Given the description of an element on the screen output the (x, y) to click on. 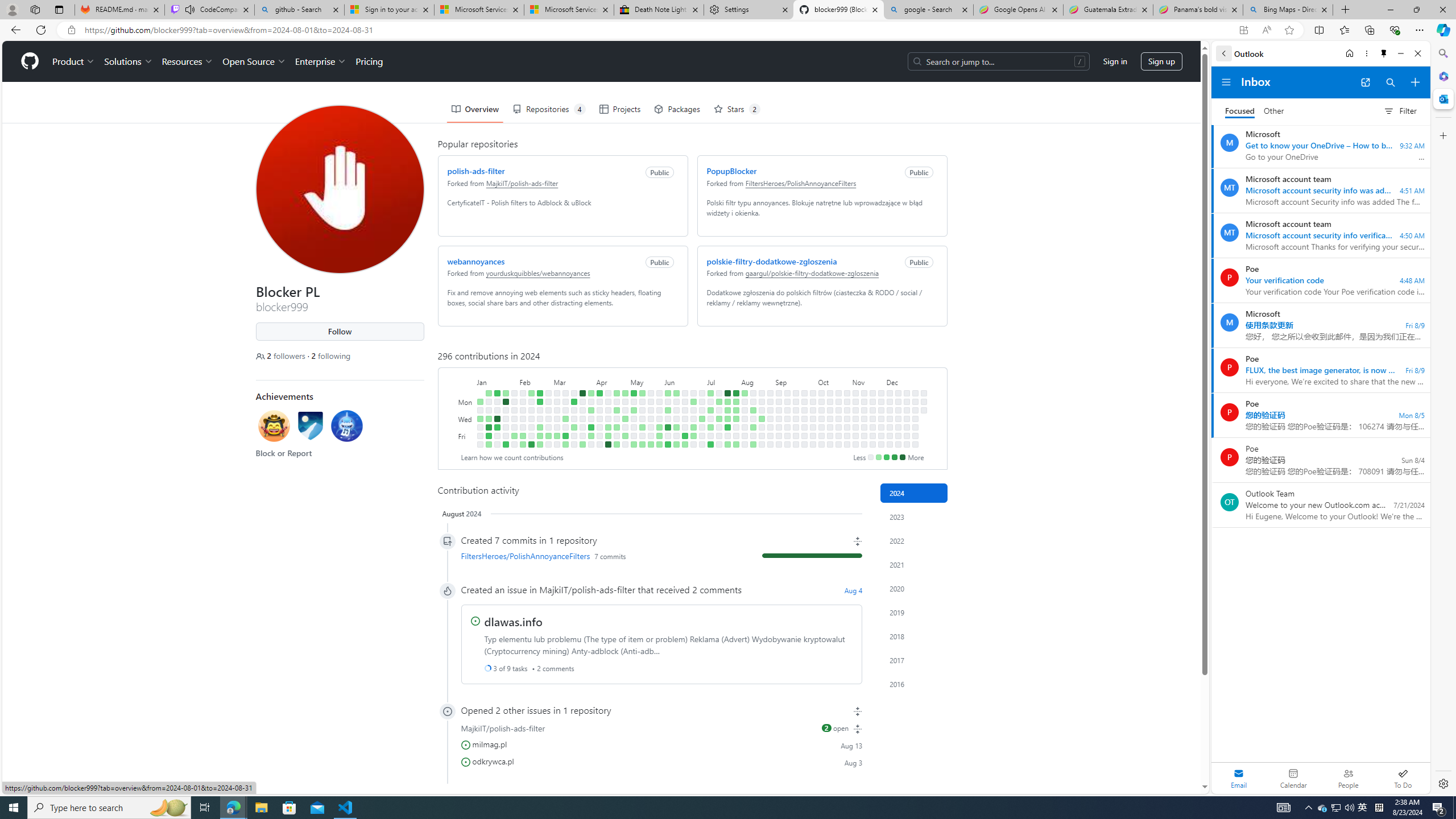
odkrywca.plThis contribution was made on Aug 3 (661, 760)
1 contribution on March 8th. (556, 435)
No contributions on September 5th. (777, 427)
No contributions on March 12th. (565, 410)
No contributions on August 28th. (770, 418)
No contributions on November 16th. (863, 444)
3 contributions on March 16th. (565, 444)
2 contributions on June 9th. (675, 392)
2020 (913, 588)
No contributions on April 8th. (598, 401)
Open Source (254, 60)
2 contributions on May 12th. (642, 392)
No contributions on December 12th. (897, 427)
7 contributions on July 28th. (735, 392)
Achievement: Quickdraw (273, 427)
